Given the description of an element on the screen output the (x, y) to click on. 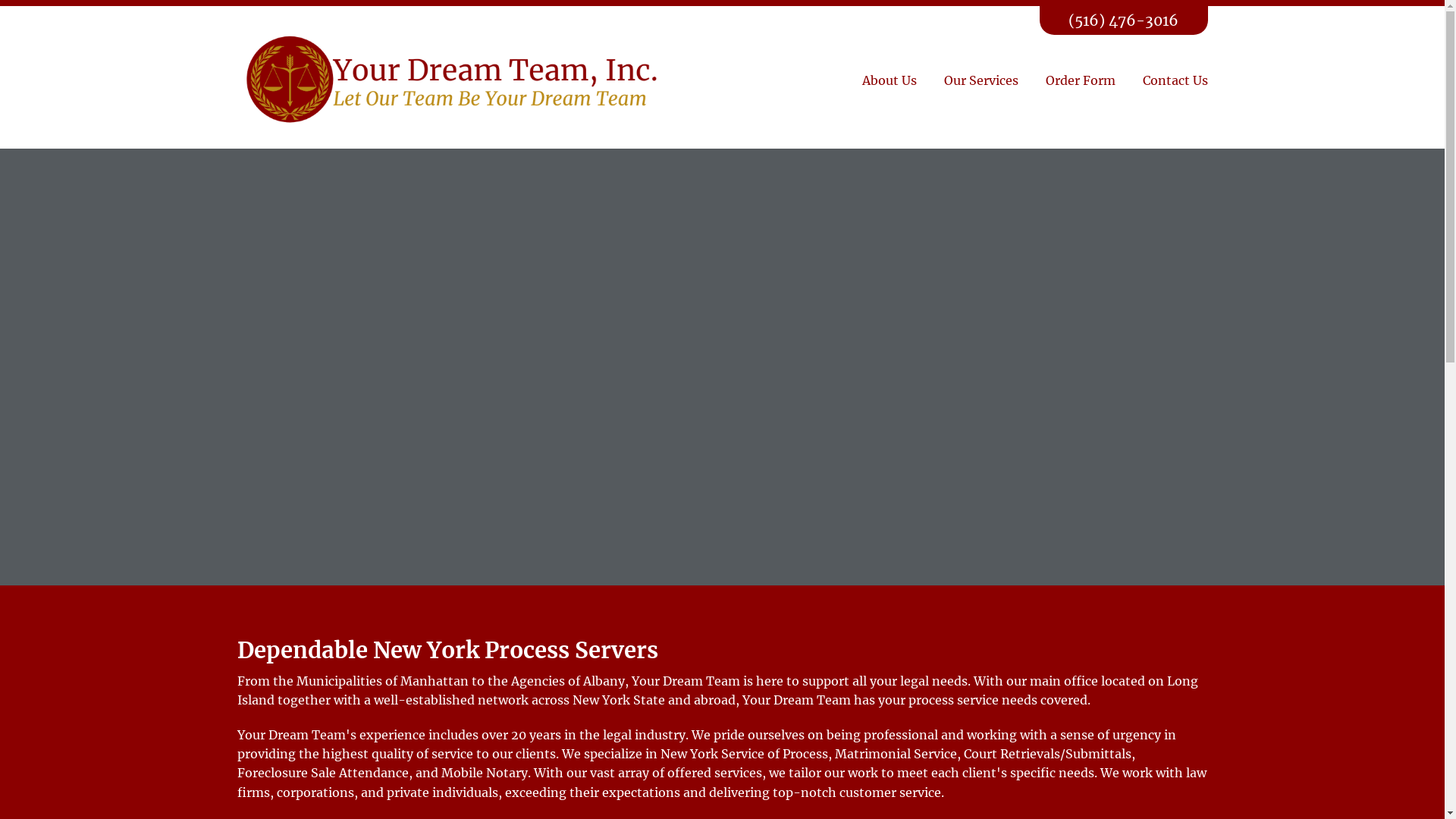
About Us Element type: text (888, 79)
Contact Us Element type: text (1174, 79)
Order Form Element type: text (1079, 79)
Our Services Element type: text (980, 79)
